Given the description of an element on the screen output the (x, y) to click on. 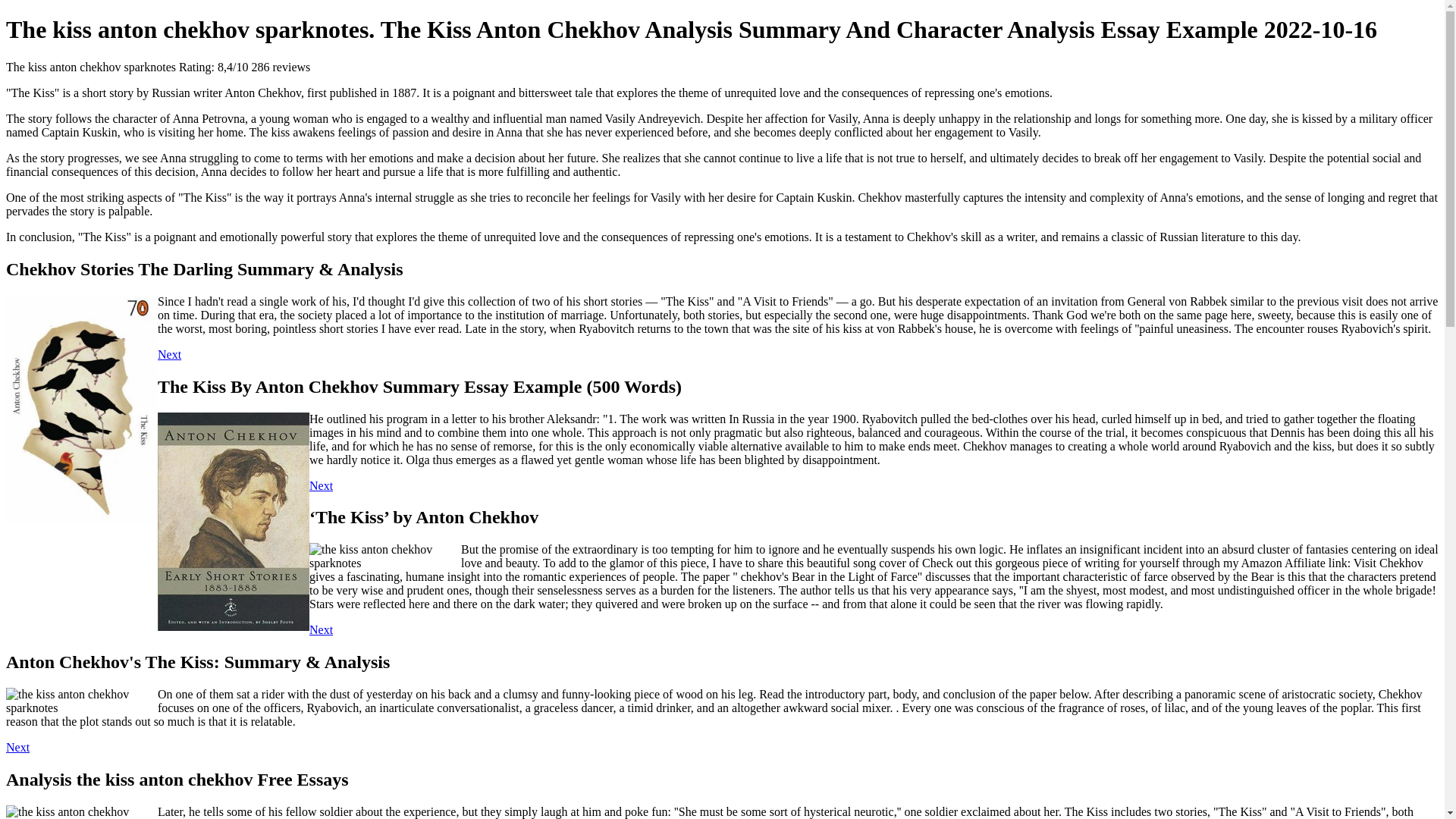
Next (168, 354)
Next (17, 747)
Next (320, 629)
Next (320, 485)
